Given the description of an element on the screen output the (x, y) to click on. 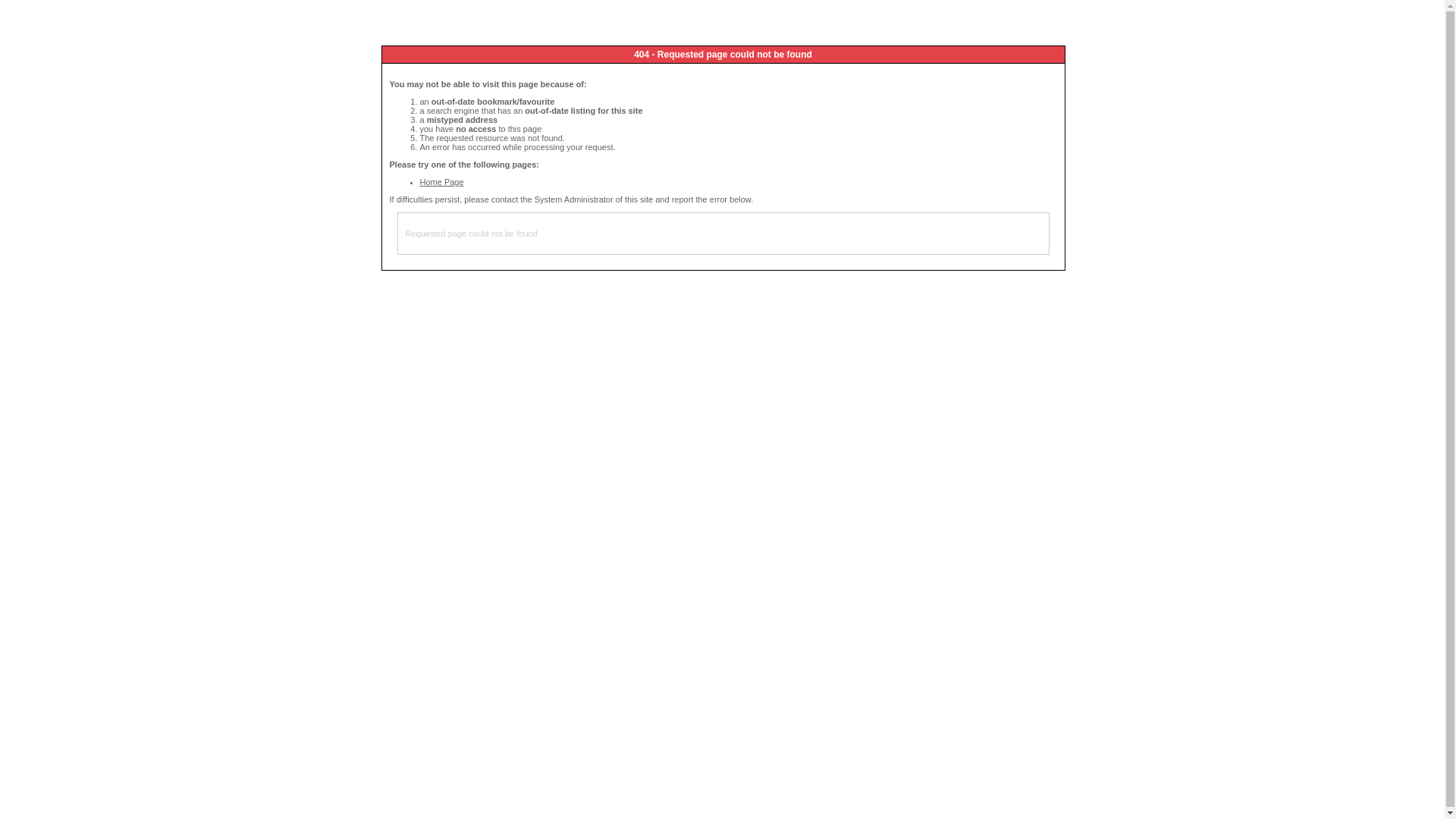
Home Page Element type: text (442, 181)
